Given the description of an element on the screen output the (x, y) to click on. 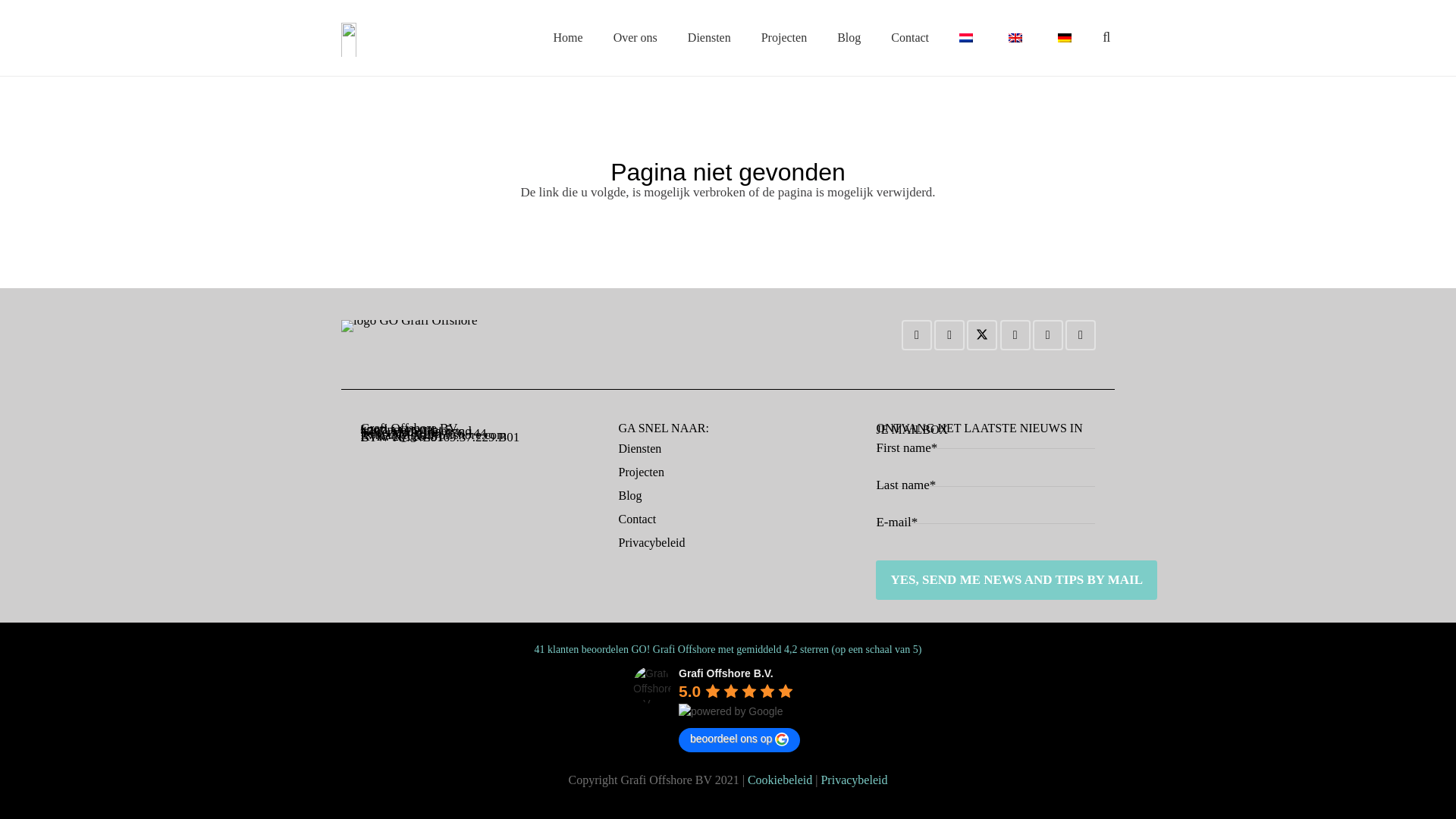
E-mail (916, 335)
Blog (849, 37)
YES, SEND ME NEWS AND TIPS BY MAIL (1016, 579)
Facebook (948, 335)
LinkedIn (1047, 335)
YouTube (1080, 335)
powered by Google (730, 711)
Diensten (708, 37)
Home (568, 37)
Google (1015, 335)
Twitter (981, 335)
Over ons (635, 37)
Grafi Offshore B.V. (652, 684)
Contact (909, 37)
Projecten (783, 37)
